Given the description of an element on the screen output the (x, y) to click on. 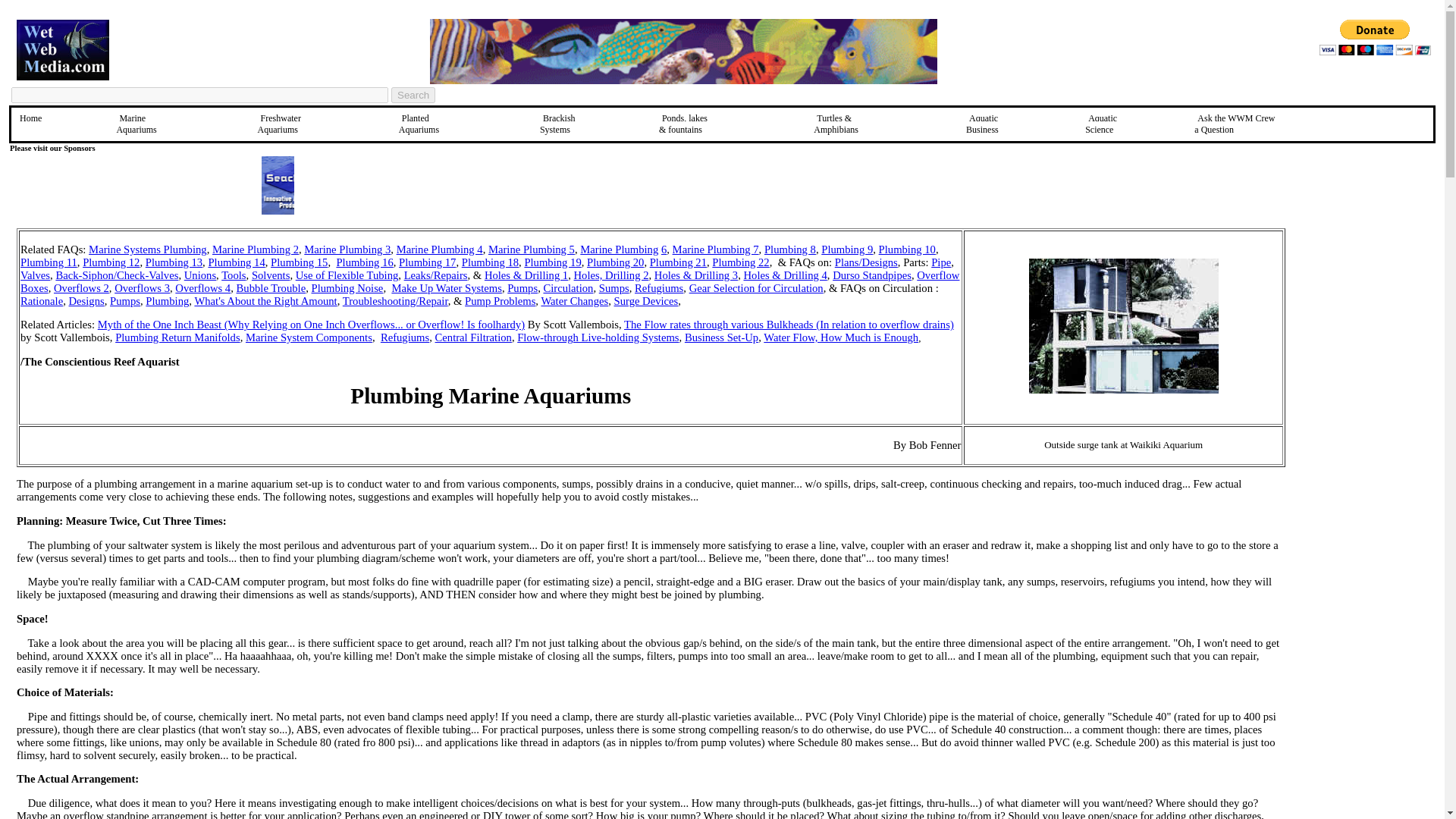
Home (30, 117)
Plumbing 17 (426, 262)
Plumbing 20 (614, 262)
Plumbing 15 (298, 262)
Marine Systems Plumbing (147, 249)
Marine Plumbing 5 (531, 249)
Plumbing 21 (279, 123)
Plumbing 16 (677, 262)
Search (364, 262)
Plumbing 13 (413, 94)
Marine Plumbing 7 (137, 123)
Plumbing 14 (173, 262)
